Given the description of an element on the screen output the (x, y) to click on. 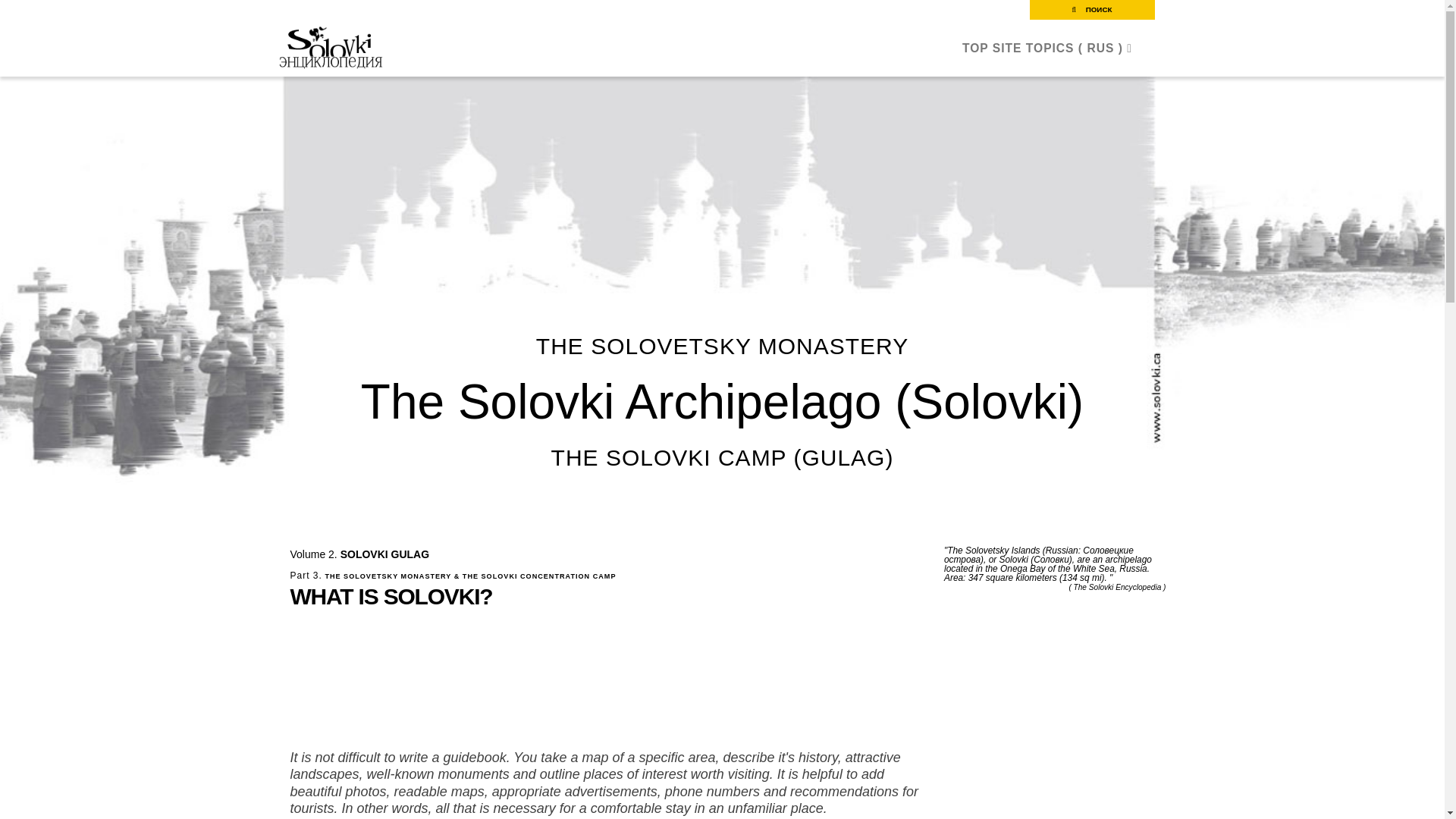
Advertisement (456, 724)
